Given the description of an element on the screen output the (x, y) to click on. 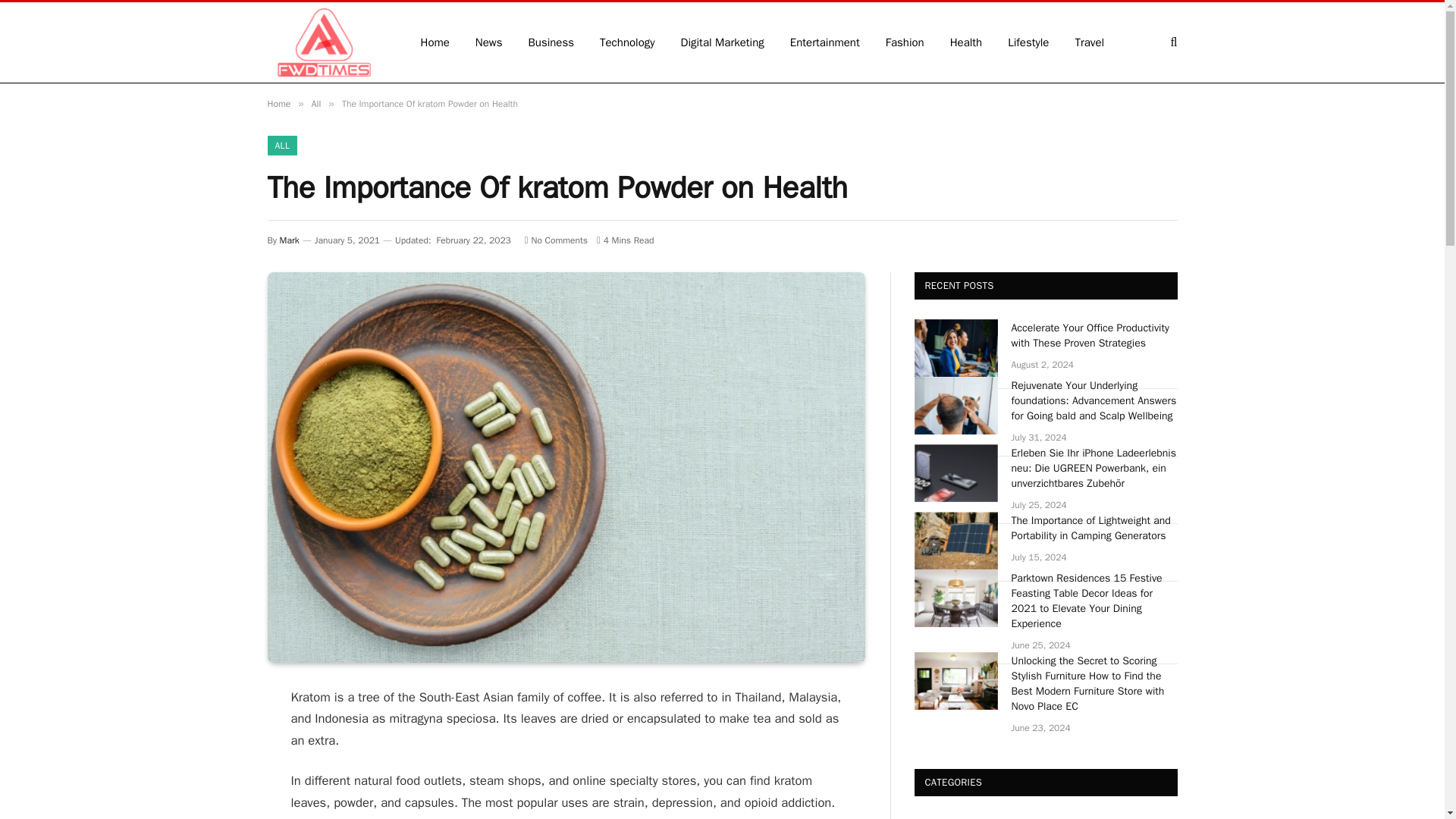
Digital Marketing (722, 42)
Technology (627, 42)
Mark (289, 240)
Entertainment (824, 42)
Posts by Mark (289, 240)
ALL (281, 145)
Home (277, 103)
